Given the description of an element on the screen output the (x, y) to click on. 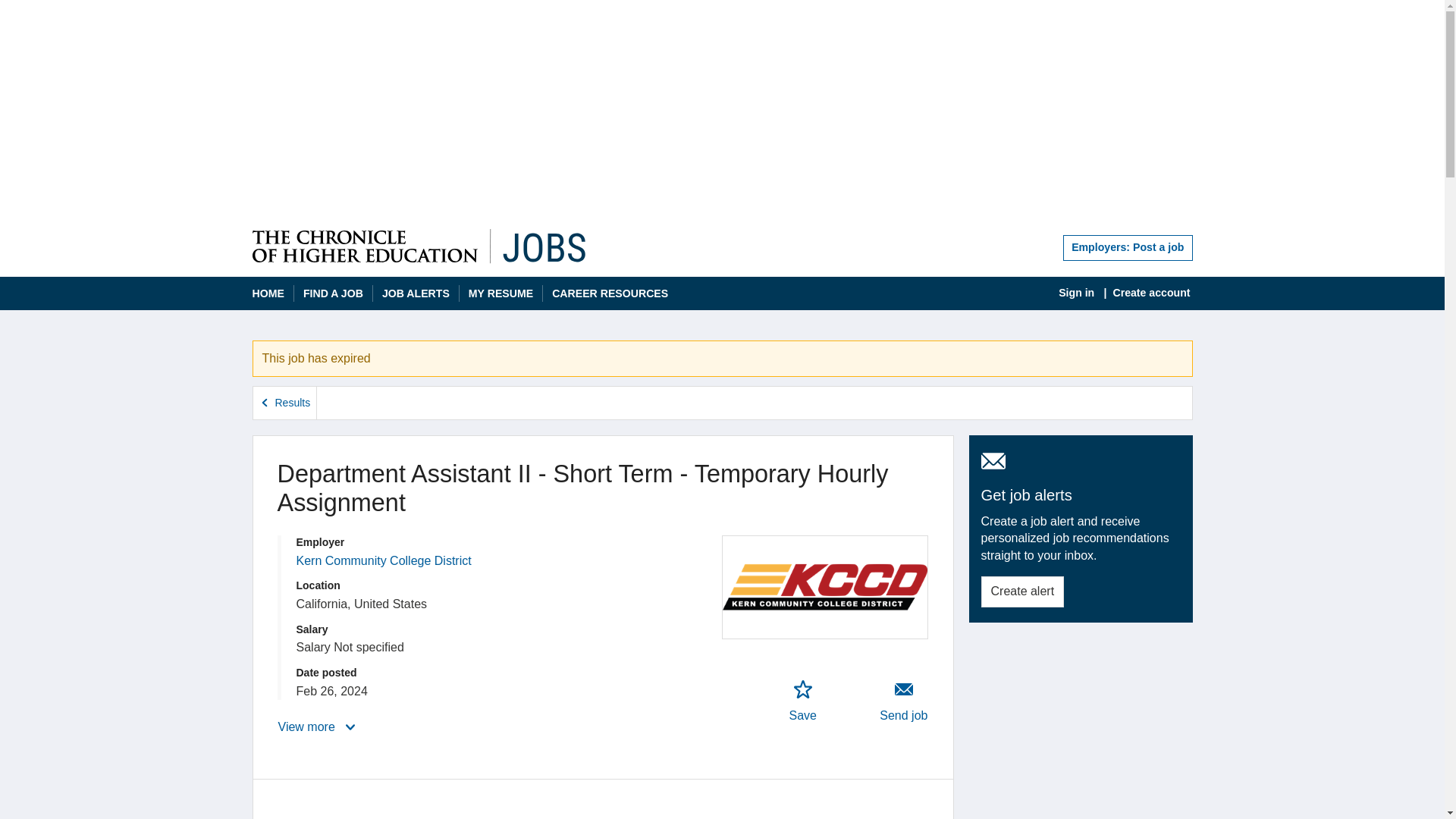
View more (318, 727)
Kern Community College District (382, 560)
JOB ALERTS (415, 294)
FIND A JOB (332, 294)
Sign in (1076, 293)
HOME (267, 294)
Create account (1150, 293)
Results (285, 402)
Employers: Post a job (1127, 248)
The Chronicle of Higher Education Jobs (418, 246)
Create alert (1022, 591)
